Given the description of an element on the screen output the (x, y) to click on. 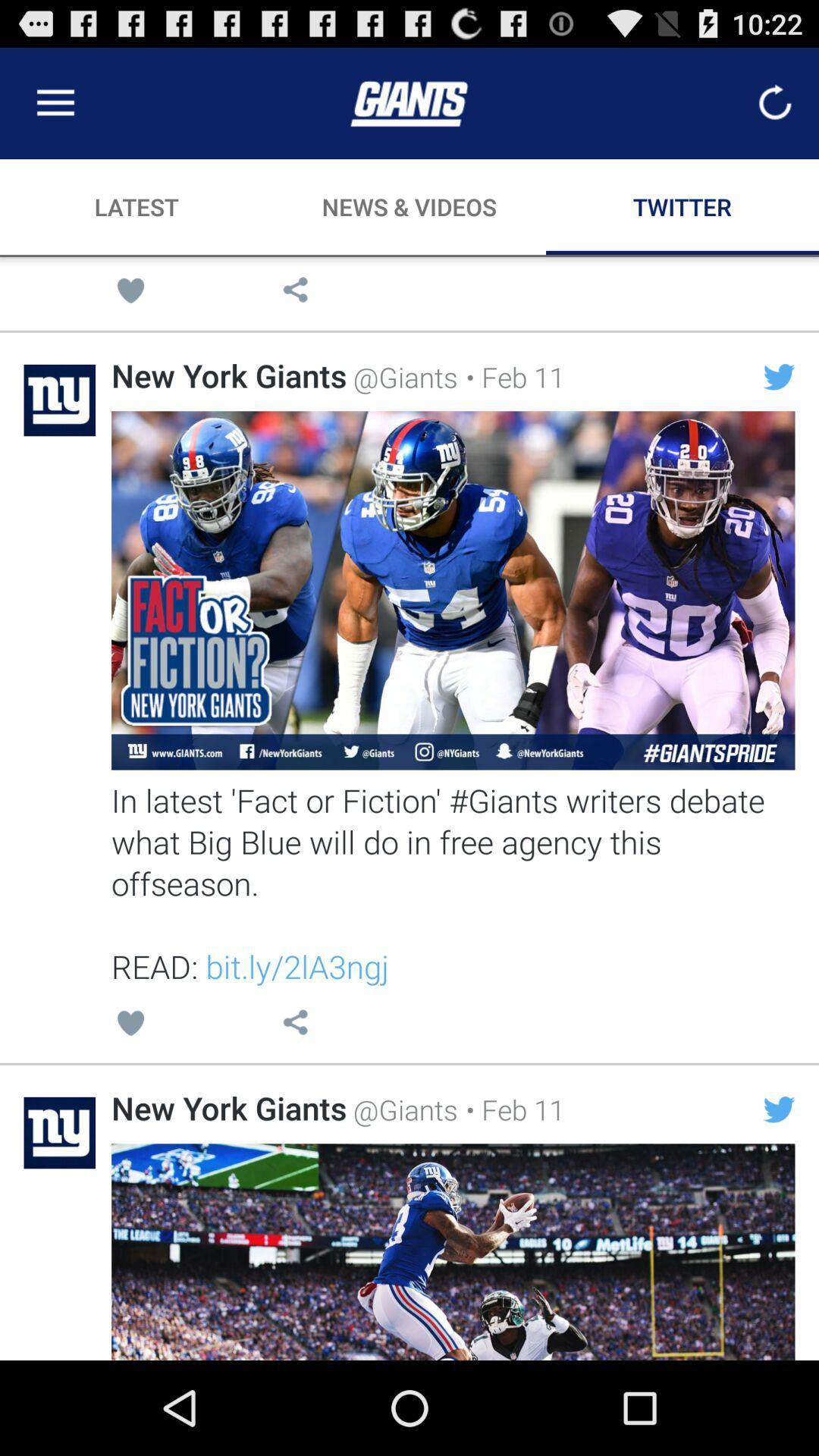
scroll until the in latest fact icon (453, 882)
